Given the description of an element on the screen output the (x, y) to click on. 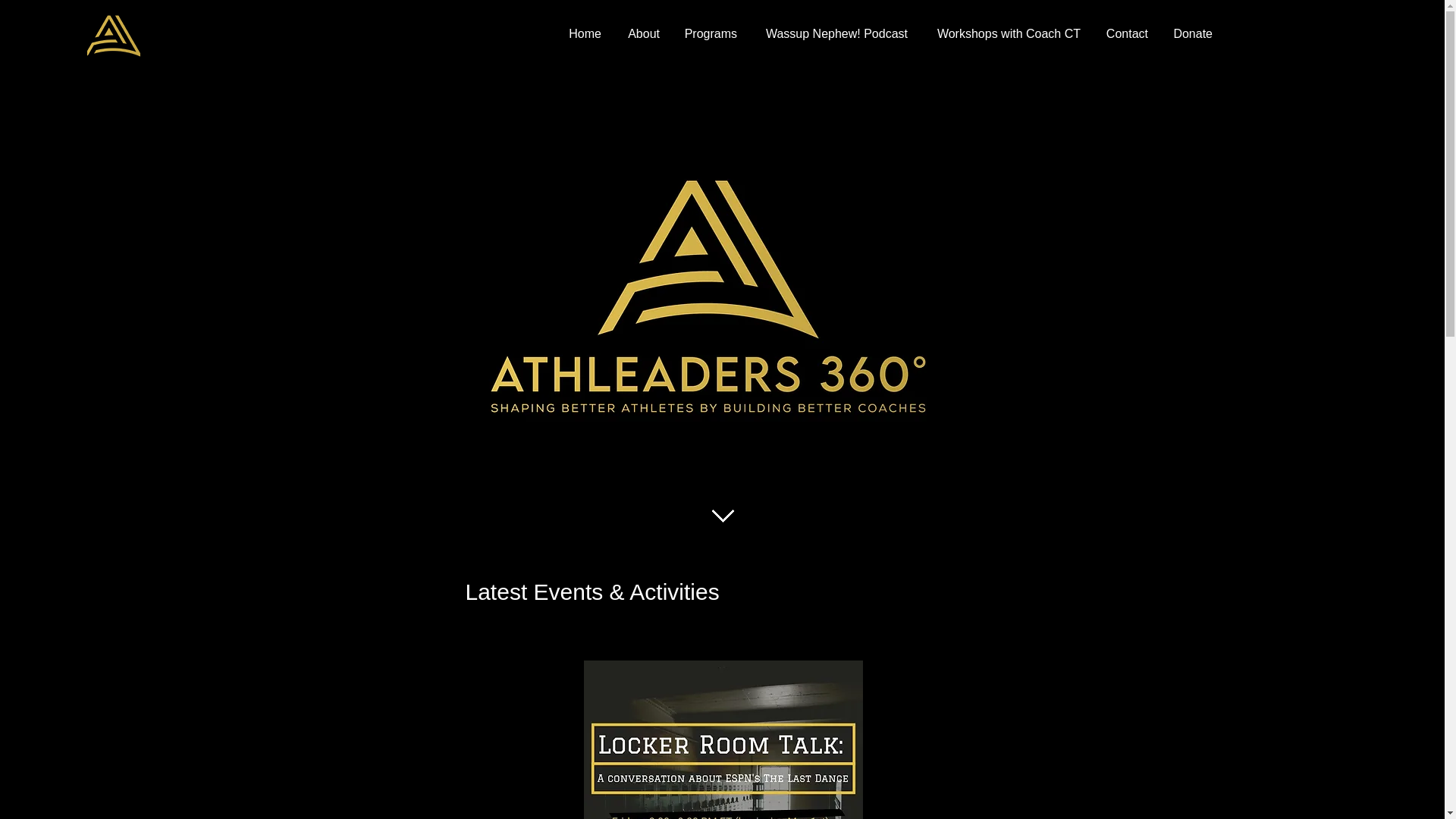
Programs (709, 34)
About (641, 34)
Workshops with Coach CT (1005, 34)
Contact (1125, 34)
Wassup Nephew! Podcast (833, 34)
Home (584, 34)
Donate (1191, 34)
